Given the description of an element on the screen output the (x, y) to click on. 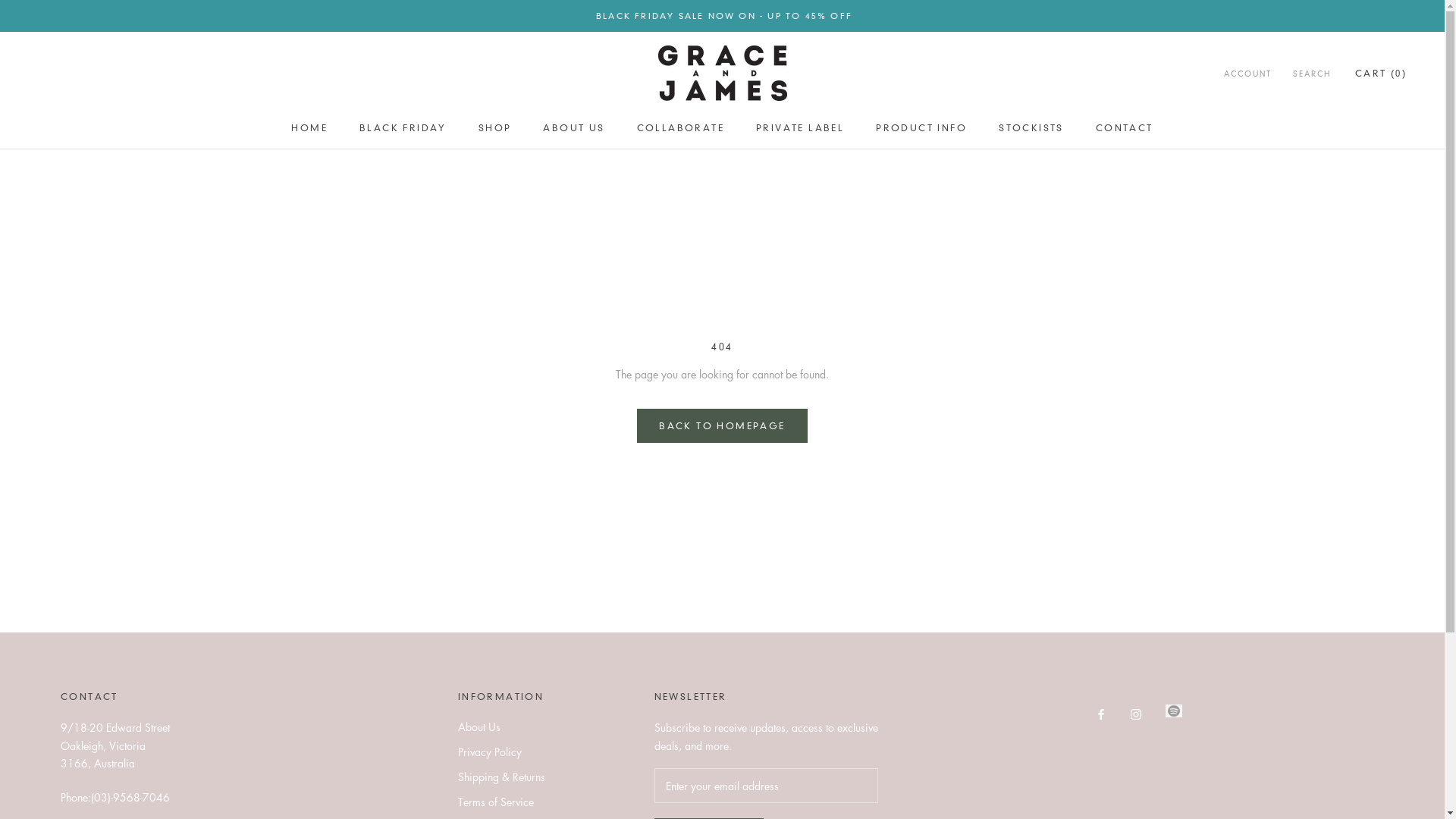
BLACK FRIDAY
BLACK FRIDAY Element type: text (402, 127)
SHOP Element type: text (494, 127)
COLLABORATE
COLLABORATE Element type: text (680, 127)
PRODUCT INFO Element type: text (920, 127)
HOME
HOME Element type: text (309, 127)
About Us Element type: text (501, 726)
SEARCH Element type: text (1311, 74)
ACCOUNT Element type: text (1247, 74)
CONTACT
CONTACT Element type: text (1124, 127)
ABOUT US
ABOUT US Element type: text (573, 127)
PRIVATE LABEL
PRIVATE LABEL Element type: text (800, 127)
Shipping & Returns Element type: text (501, 776)
STOCKISTS
STOCKISTS Element type: text (1030, 127)
Privacy Policy Element type: text (501, 751)
BACK TO HOMEPAGE Element type: text (721, 425)
Terms of Service Element type: text (501, 801)
CART (0) Element type: text (1380, 72)
